Given the description of an element on the screen output the (x, y) to click on. 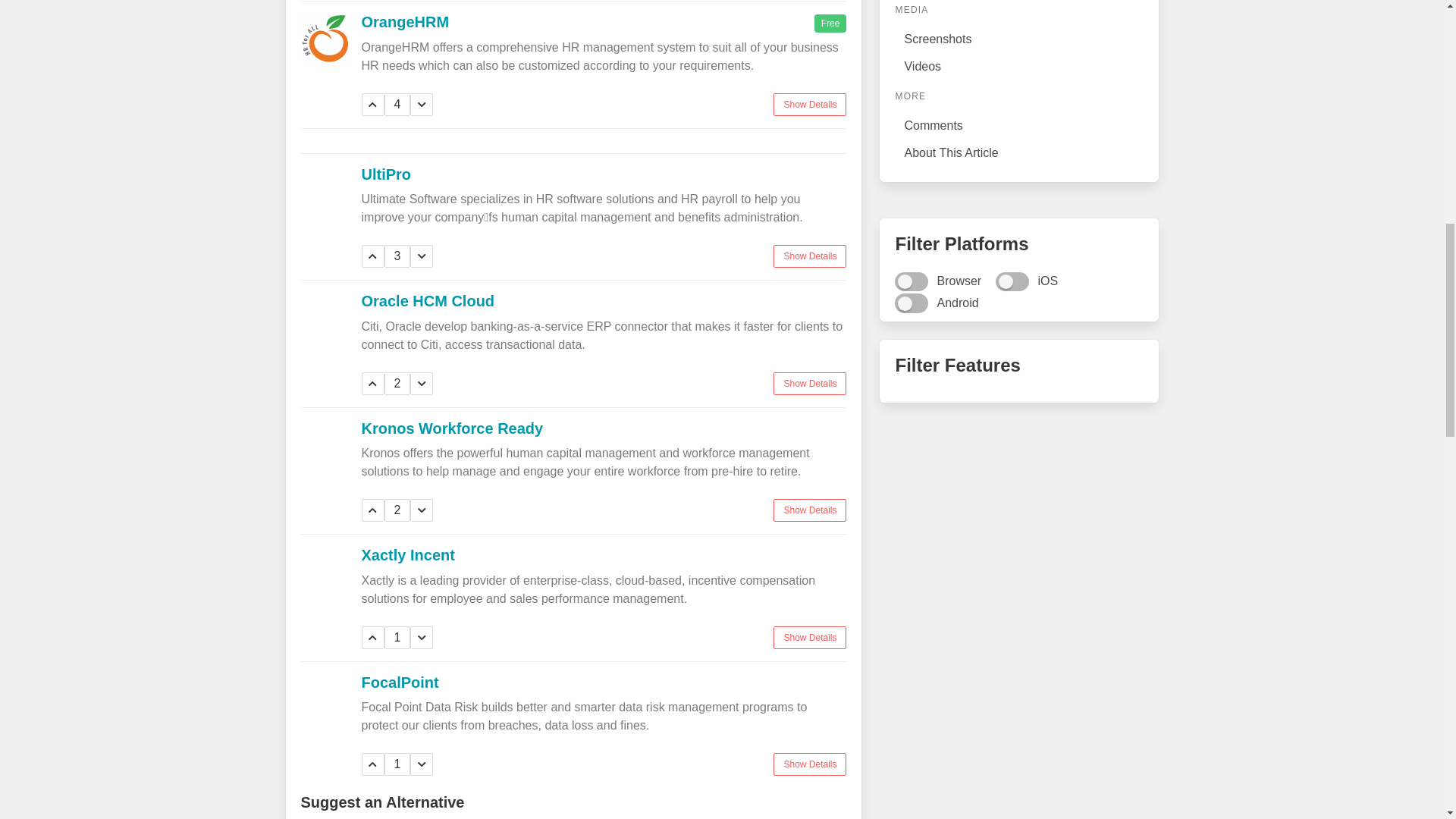
OrangeHRM (404, 21)
Show Details (809, 255)
Oracle HCM Cloud (428, 300)
Show Details (809, 509)
Kronos Workforce Ready (452, 428)
Show Details (809, 382)
Show Details (809, 103)
Show Details (809, 637)
UltiPro (385, 173)
Xactly Incent (407, 555)
